Given the description of an element on the screen output the (x, y) to click on. 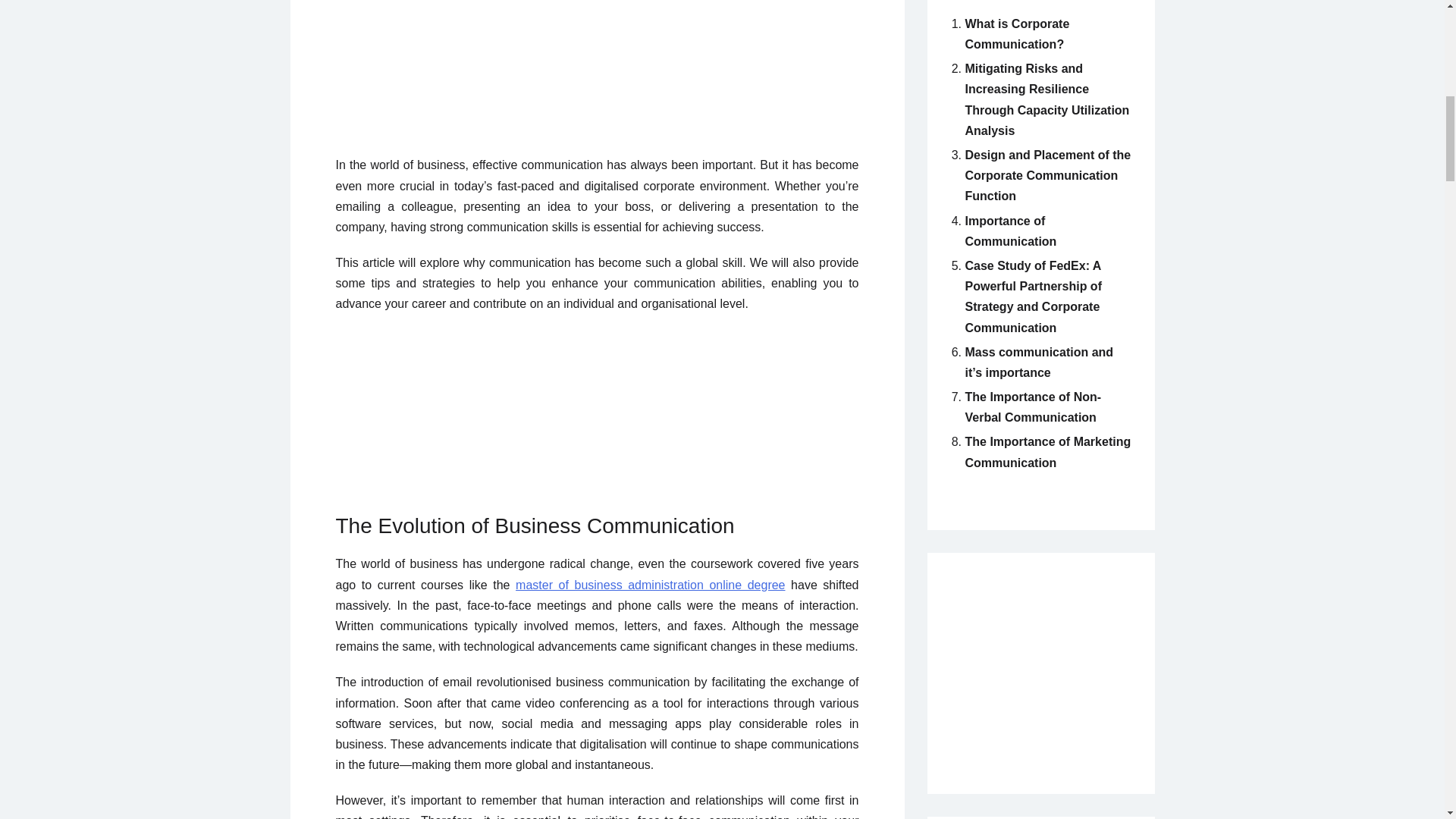
What is Corporate Communication? (1015, 33)
master of business administration online degree (649, 584)
